Given the description of an element on the screen output the (x, y) to click on. 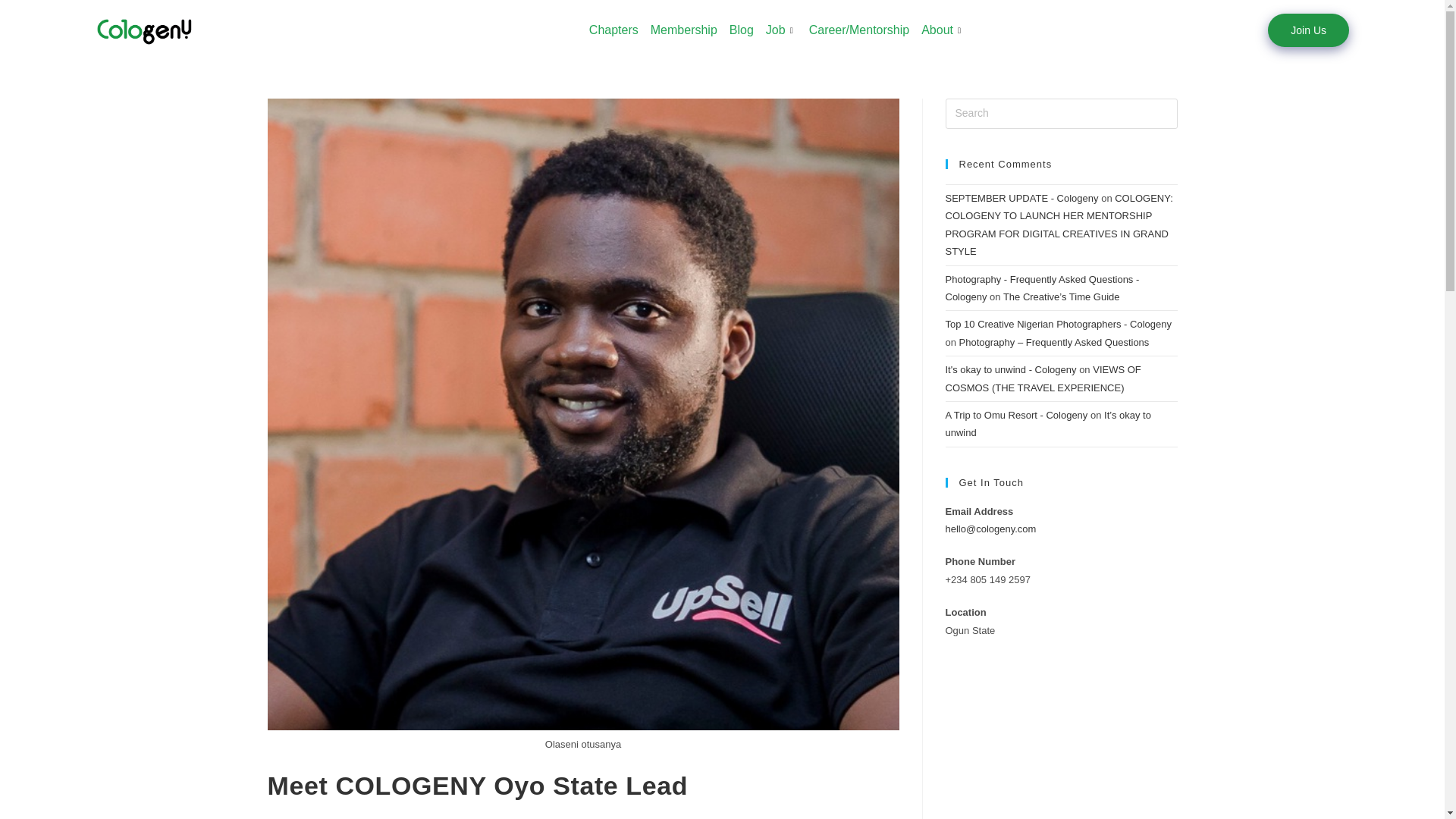
Join Us (1308, 29)
Membership (684, 30)
About (943, 30)
Chapters (614, 30)
